Given the description of an element on the screen output the (x, y) to click on. 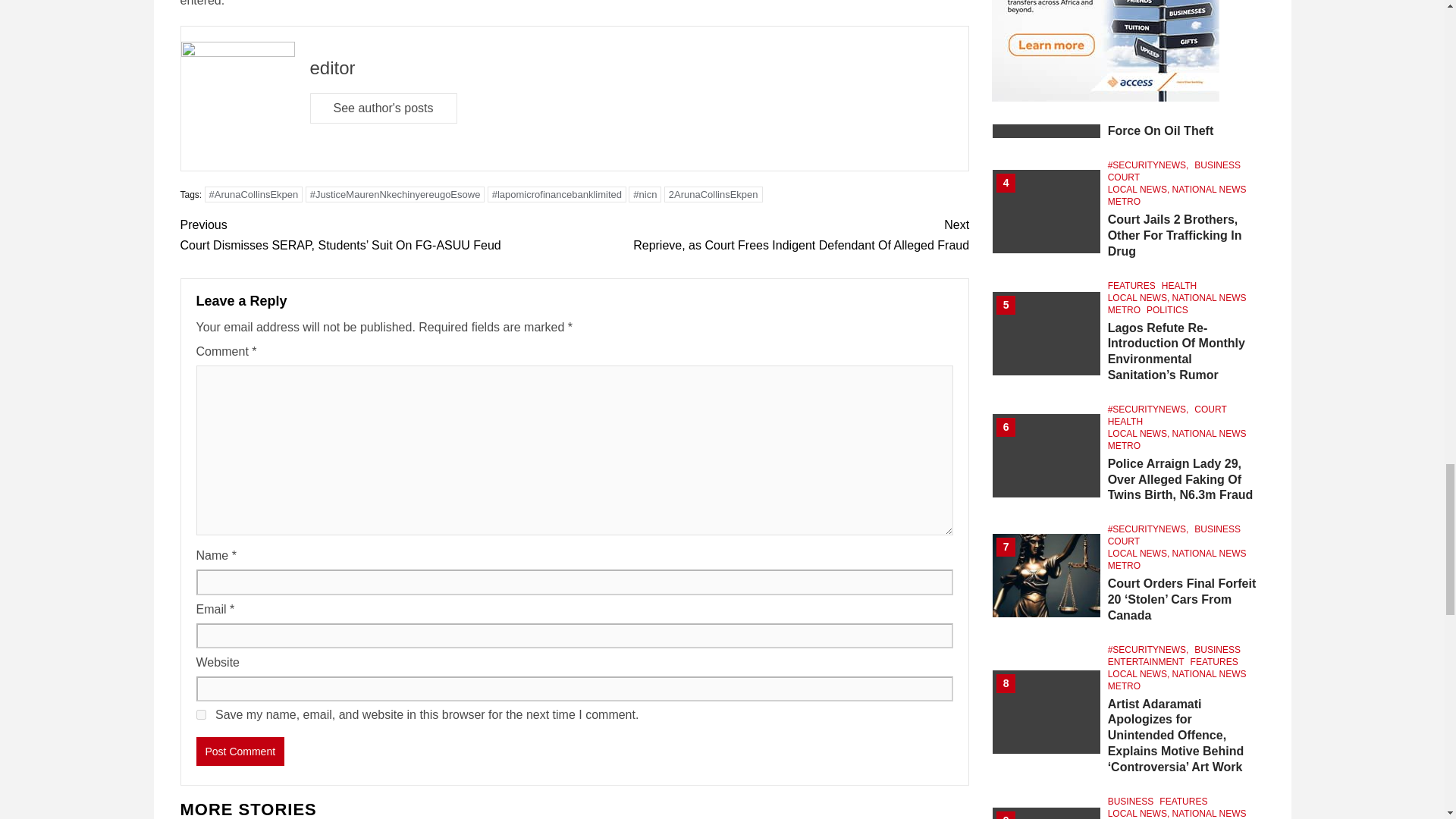
editor (331, 67)
See author's posts (382, 107)
yes (200, 714)
Post Comment (239, 751)
Post Comment (239, 751)
2ArunaCollinsEkpen (712, 194)
